Given the description of an element on the screen output the (x, y) to click on. 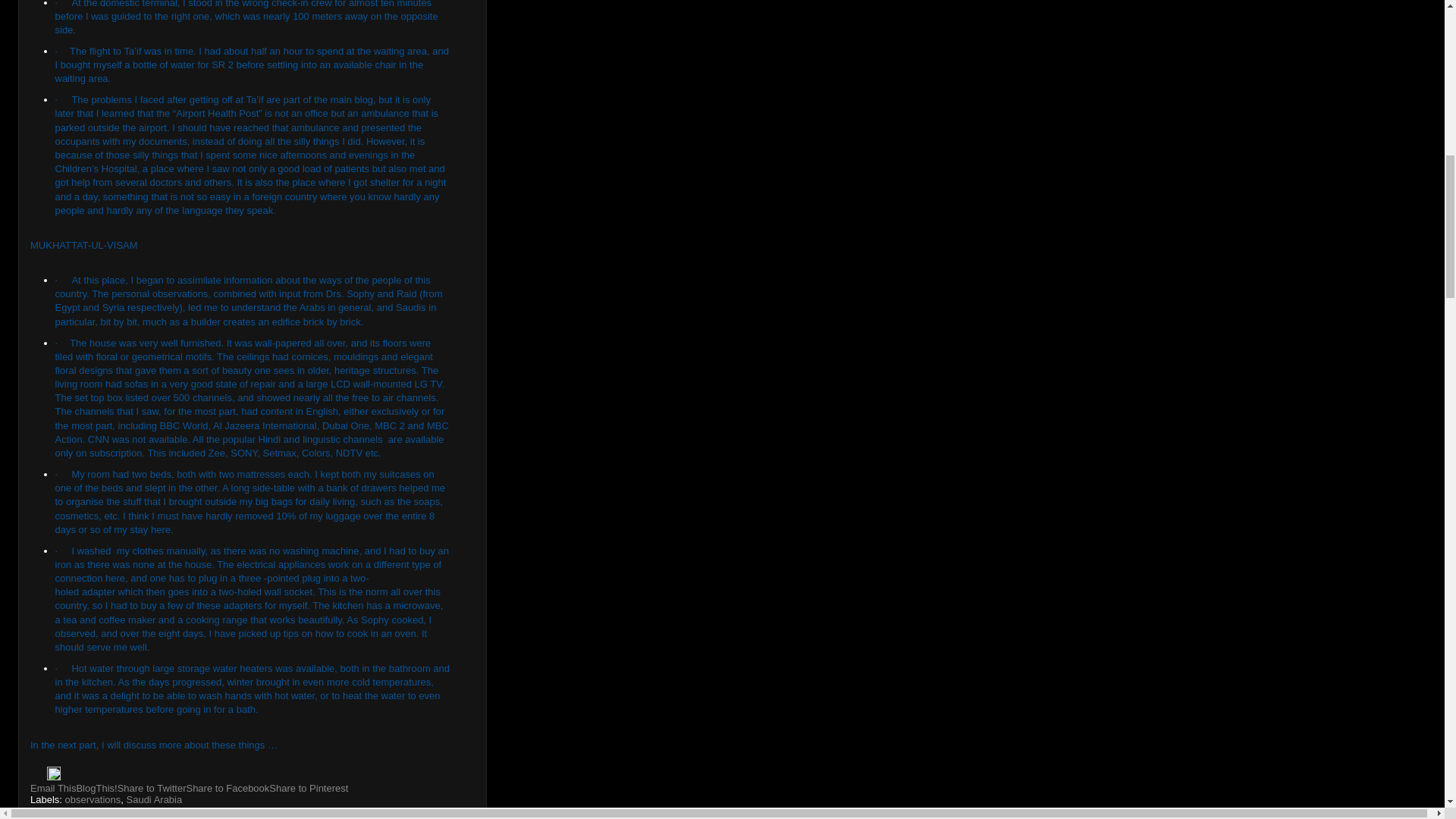
Share to Facebook (227, 787)
observations (92, 799)
BlogThis! (95, 787)
Email This (52, 787)
BlogThis! (95, 787)
Email Post (38, 776)
Share to Pinterest (308, 787)
Share to Facebook (227, 787)
Share to Twitter (151, 787)
Email This (52, 787)
Share to Twitter (151, 787)
Edit Post (53, 776)
Share to Pinterest (308, 787)
Saudi Arabia (153, 799)
